Given the description of an element on the screen output the (x, y) to click on. 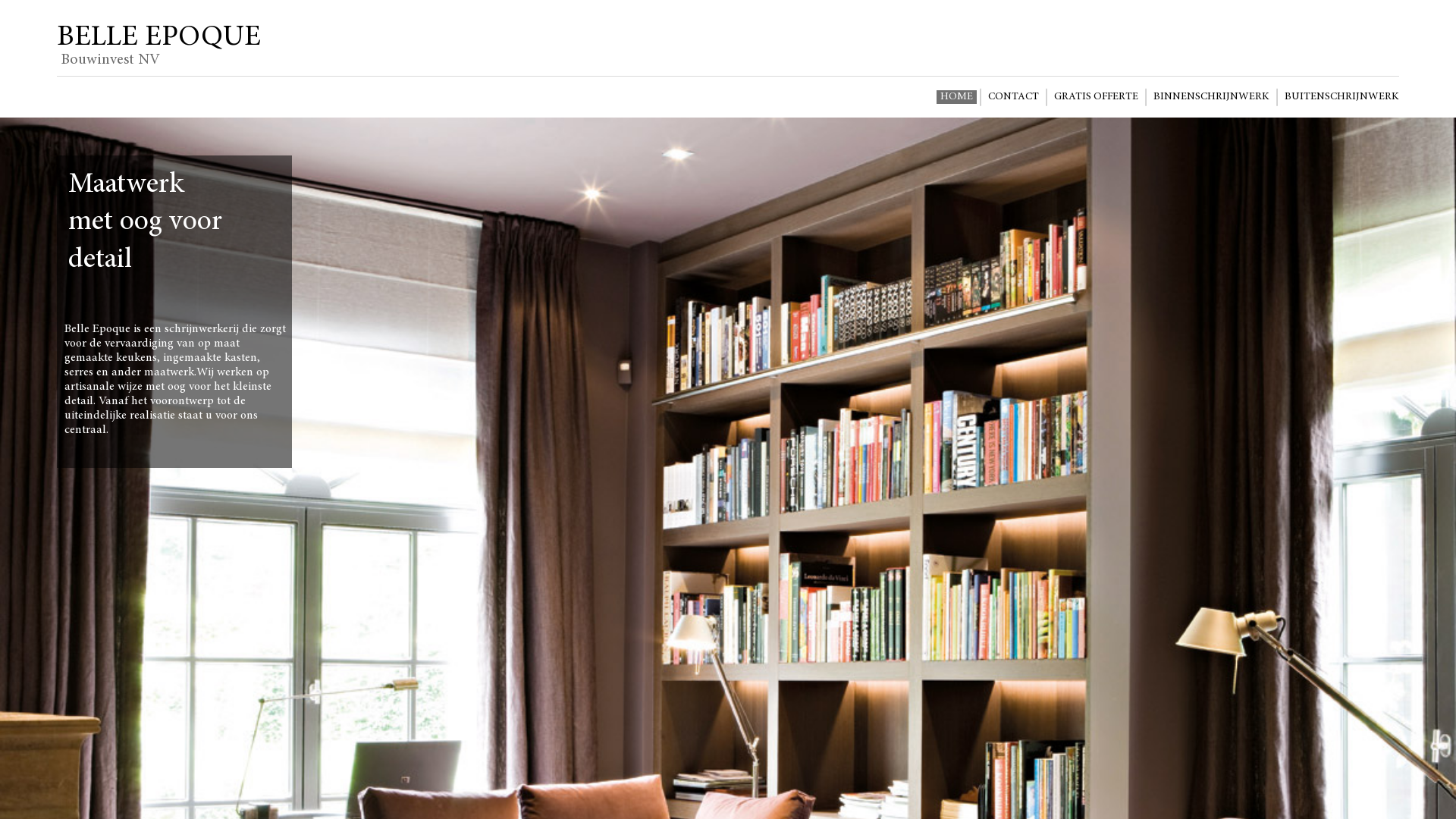
BINNENSCHRIJNWERK Element type: text (1211, 96)
GRATIS OFFERTE Element type: text (1096, 96)
BUITENSCHRIJNWERK Element type: text (1341, 96)
HOME Element type: text (956, 96)
CONTACT Element type: text (1013, 96)
BELLE EPOQUE
Bouwinvest NV Element type: text (158, 45)
